Given the description of an element on the screen output the (x, y) to click on. 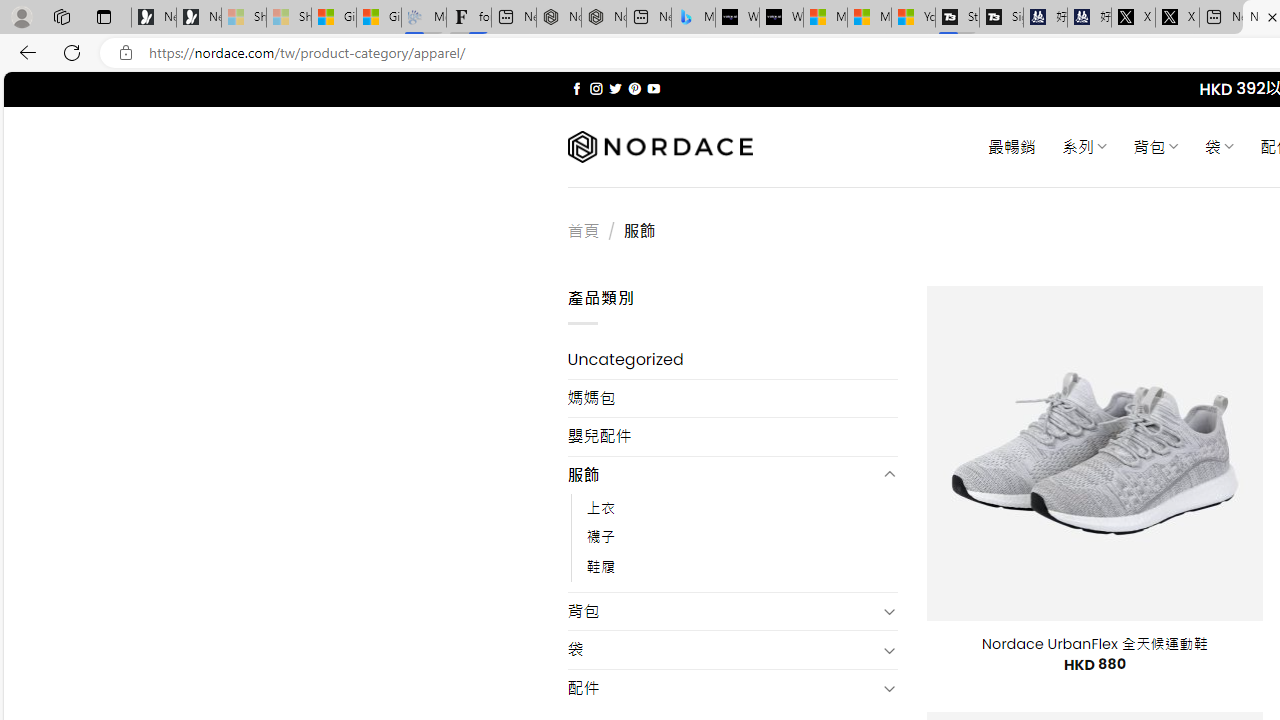
Follow on Instagram (596, 88)
Follow on Facebook (576, 88)
Newsletter Sign Up (198, 17)
Microsoft Bing Travel - Shangri-La Hotel Bangkok (693, 17)
